Given the description of an element on the screen output the (x, y) to click on. 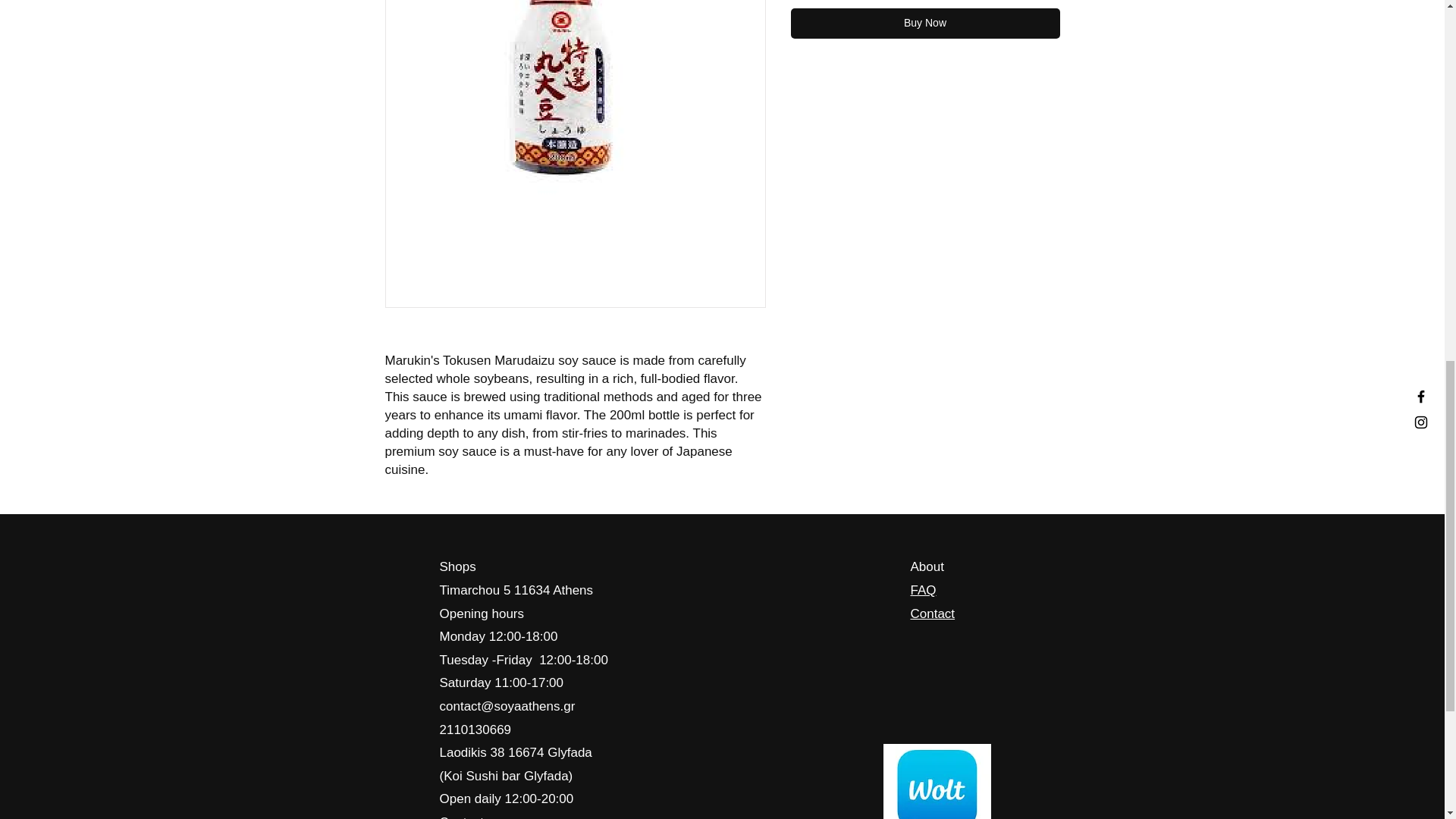
Buy Now (924, 23)
wolt.png (936, 781)
